Given the description of an element on the screen output the (x, y) to click on. 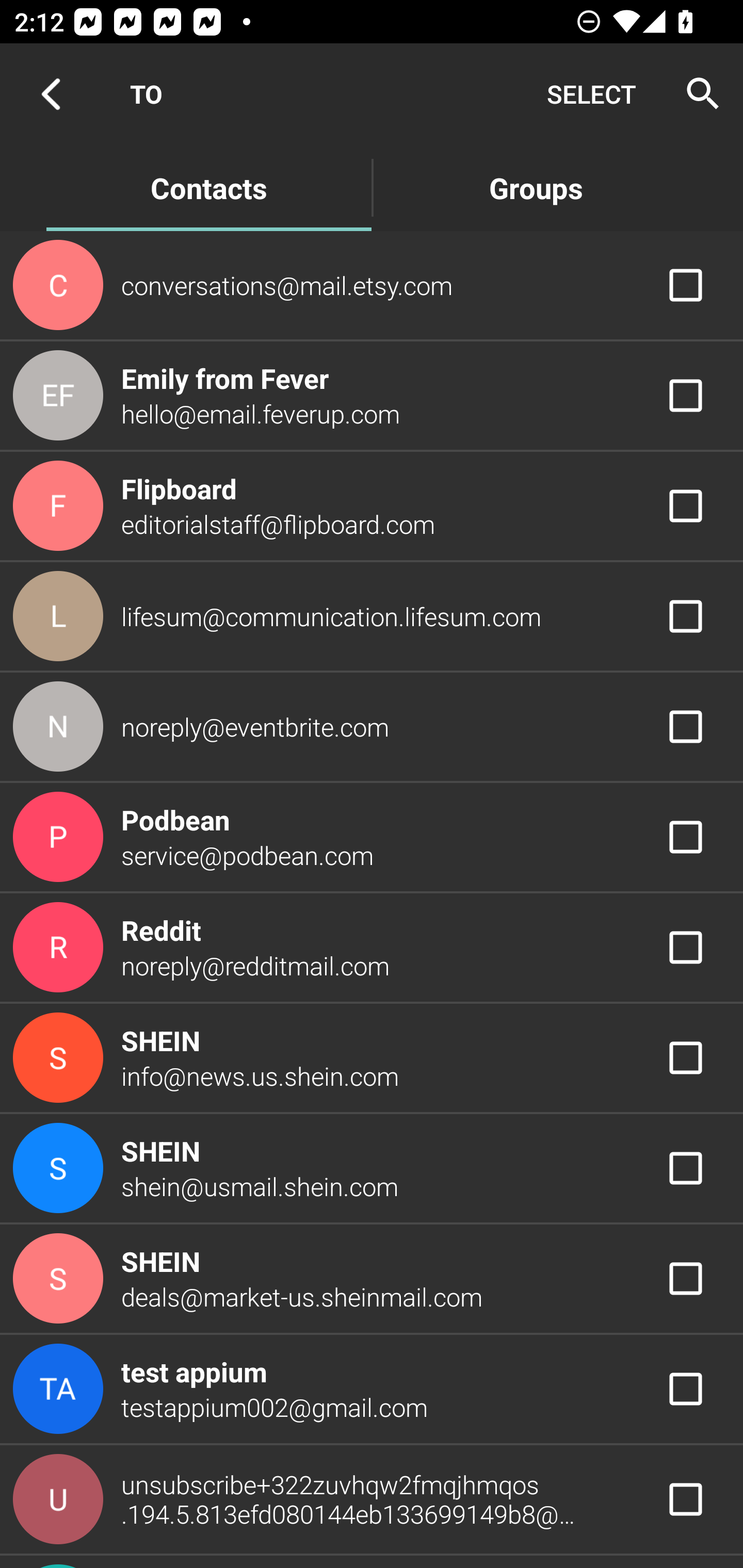
Navigate up (50, 93)
SELECT (590, 93)
Search (696, 93)
Contacts (208, 187)
Groups (535, 187)
conversations@mail.etsy.com (371, 284)
Emily from Fever hello@email.feverup.com (371, 395)
Flipboard editorialstaff@flipboard.com (371, 505)
lifesum@communication.lifesum.com (371, 616)
noreply@eventbrite.com (371, 726)
Podbean service@podbean.com (371, 836)
Reddit noreply@redditmail.com (371, 947)
SHEIN info@news.us.shein.com (371, 1057)
SHEIN shein@usmail.shein.com (371, 1168)
SHEIN deals@market-us.sheinmail.com (371, 1278)
test appium testappium002@gmail.com (371, 1388)
